Given the description of an element on the screen output the (x, y) to click on. 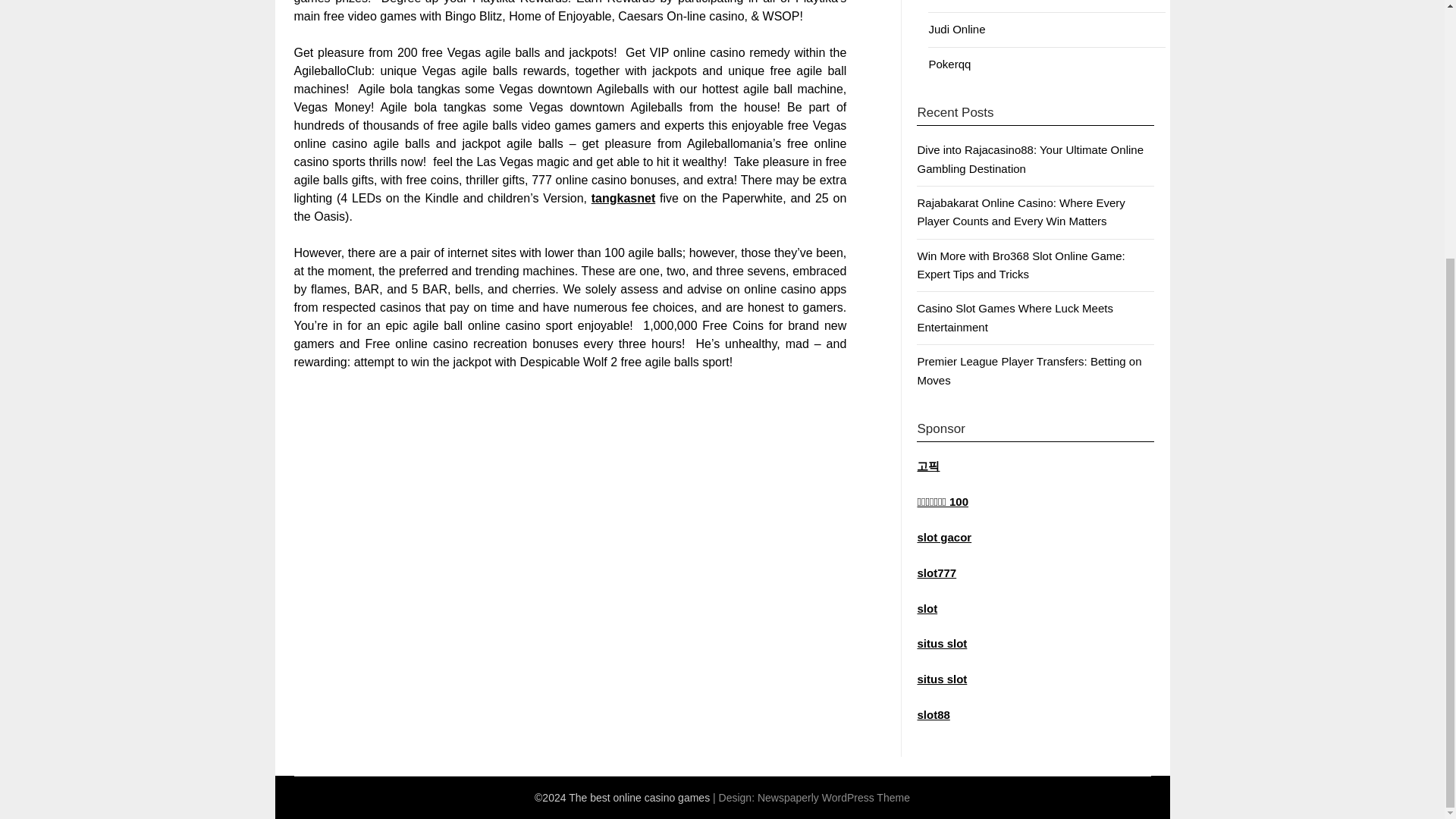
Premier League Player Transfers: Betting on Moves (1029, 369)
Judi Online (956, 29)
slot777 (936, 572)
Newspaperly WordPress Theme (833, 797)
slot gacor (944, 536)
Casino (945, 0)
Pokerqq (949, 63)
slot88 (933, 714)
Casino Slot Games Where Luck Meets Entertainment (1014, 317)
slot (927, 608)
situs slot (941, 678)
situs slot (941, 643)
